Given the description of an element on the screen output the (x, y) to click on. 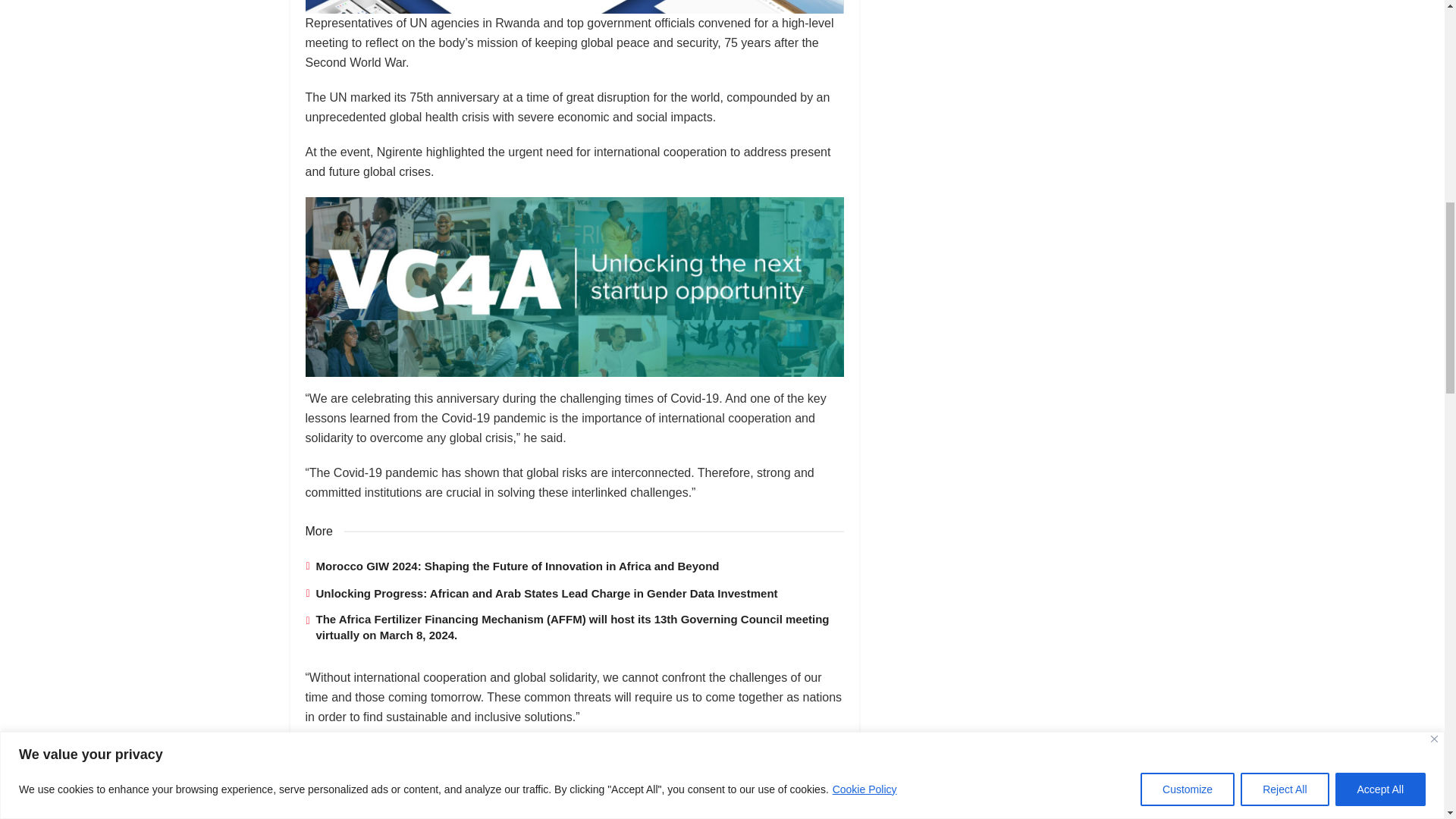
Advertisement (1017, 50)
